Given the description of an element on the screen output the (x, y) to click on. 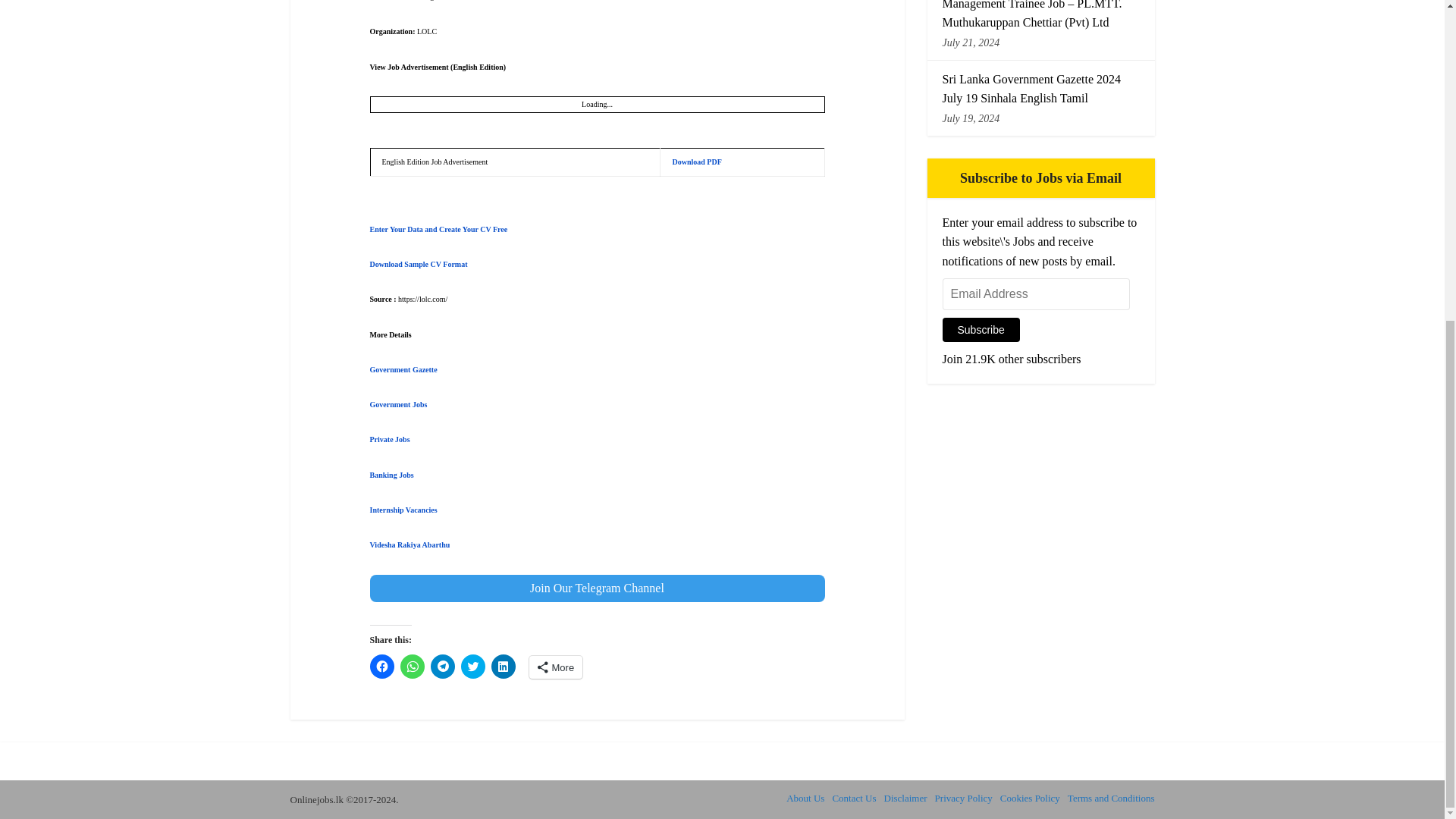
Click to share on LinkedIn (503, 666)
Videsha Rakiya Abarthu (409, 544)
More (556, 667)
Private Jobs (389, 438)
Enter Your Data and Create Your CV Free (438, 229)
Download PDF (695, 162)
Click to share on Facebook (381, 666)
Click to share on WhatsApp (412, 666)
Join Our Telegram Channel (597, 587)
Download Sample CV Format (418, 264)
Click to share on Twitter (472, 666)
Click to share on Telegram (442, 666)
Government Gazette (403, 369)
Internship Vacancies  (404, 510)
Government Jobs  (399, 404)
